Given the description of an element on the screen output the (x, y) to click on. 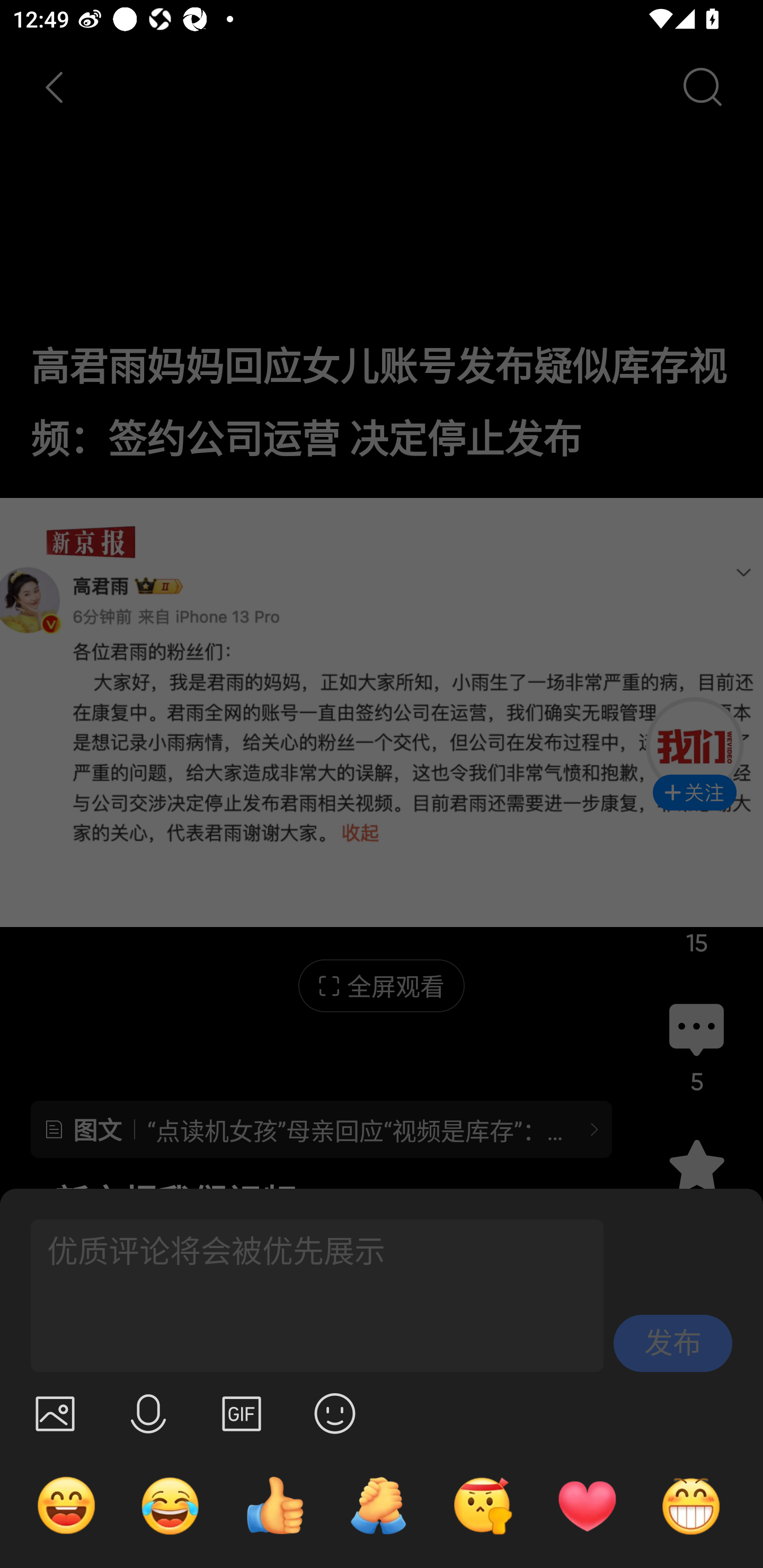
优质评论将会被优先展示 (308, 1295)
发布 (672, 1343)
 (54, 1413)
 (148, 1413)
 (241, 1413)
 (334, 1413)
哈哈 (66, 1505)
哭笑 (170, 1505)
点赞 (274, 1505)
加油 (378, 1505)
奋斗 (482, 1505)
心 (586, 1505)
呲牙 (690, 1505)
